Given the description of an element on the screen output the (x, y) to click on. 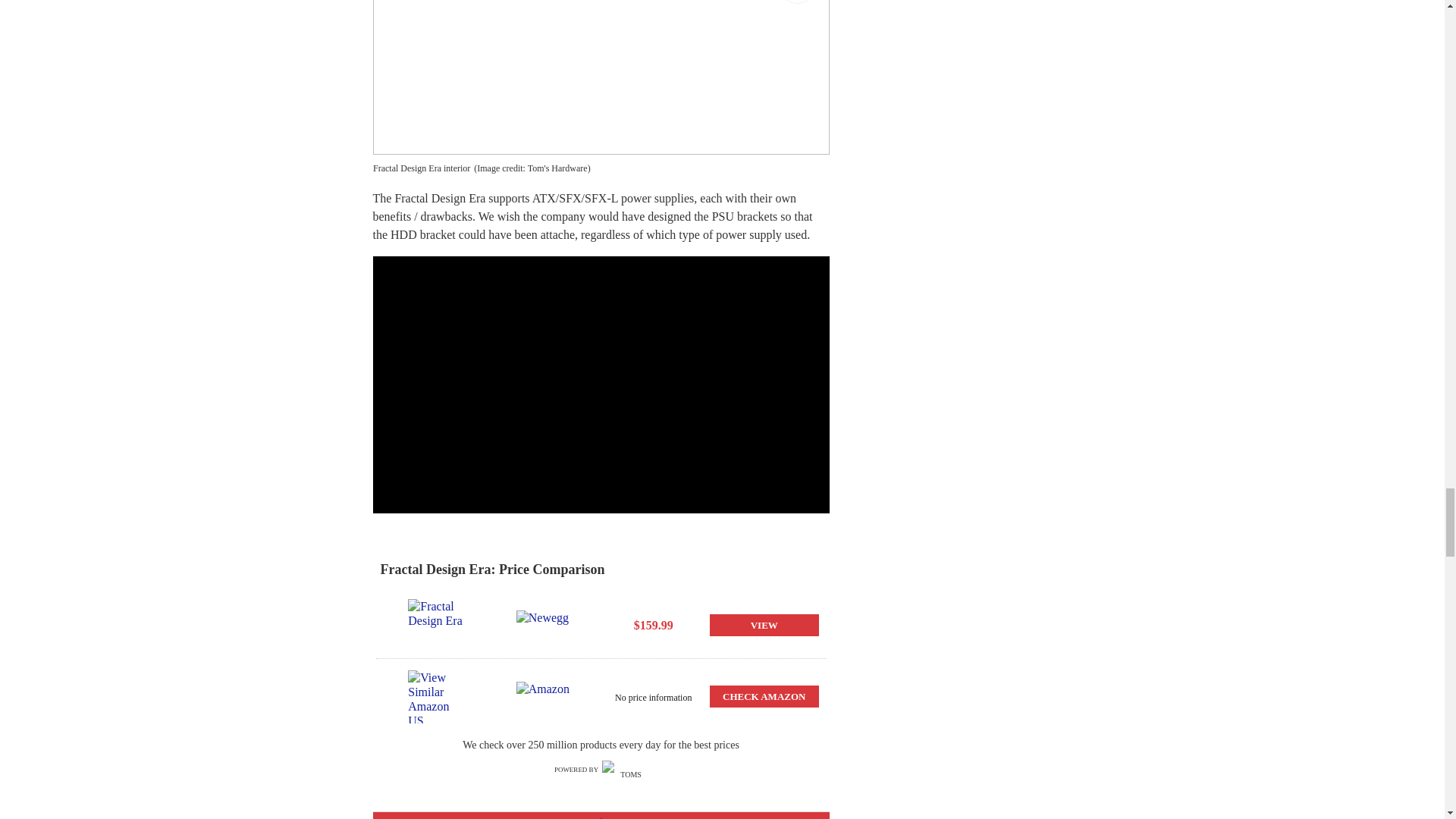
Toms Hardware (624, 769)
Amazon (546, 696)
Newegg (546, 625)
Fractal Design Era (437, 624)
View Similar Amazon US (437, 696)
